Given the description of an element on the screen output the (x, y) to click on. 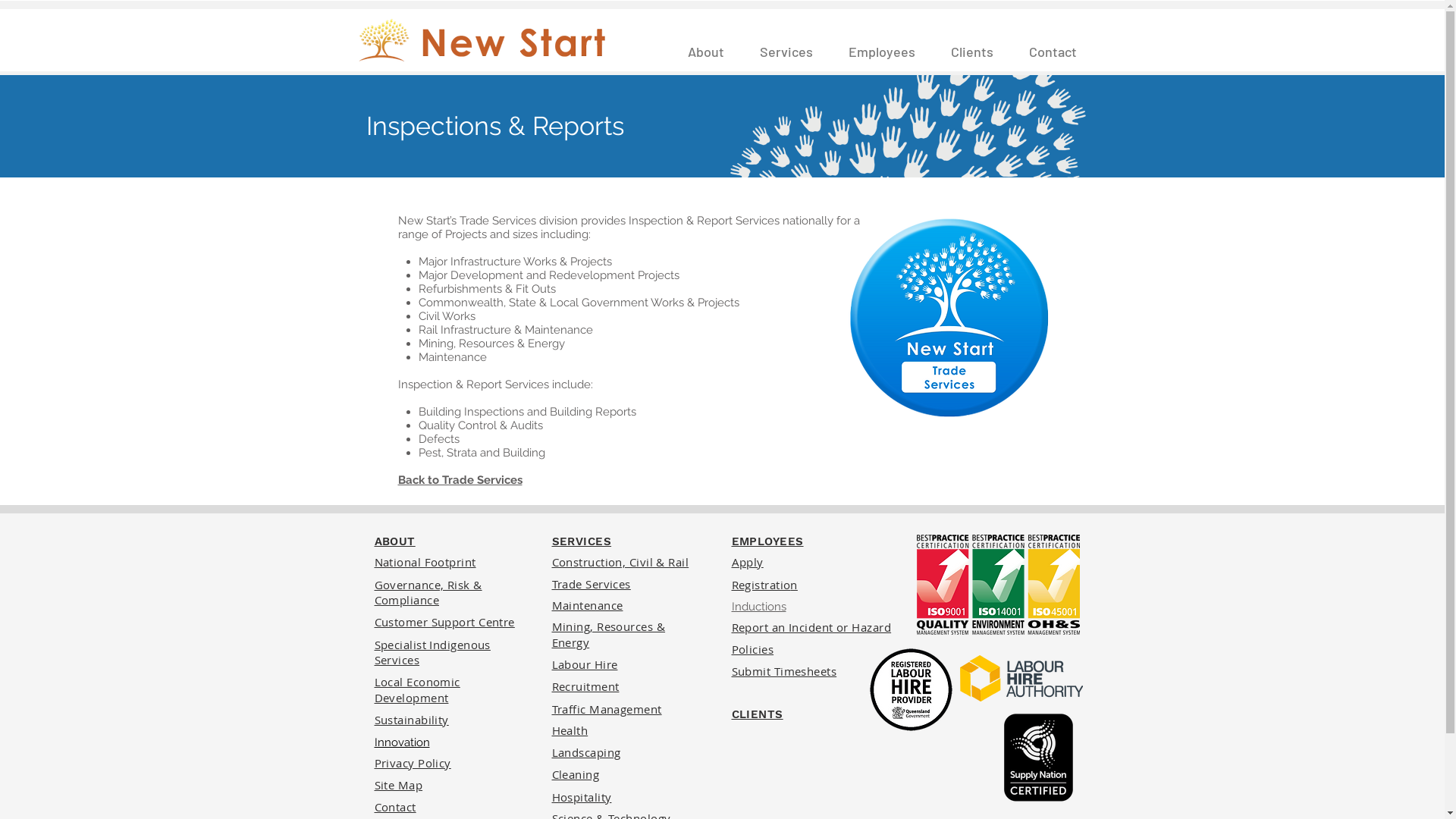
Hospitality Element type: text (581, 797)
Contact Element type: text (395, 807)
Cleaning Element type: text (575, 774)
Labour Hire Element type: text (585, 664)
n Element type: text (793, 584)
Mining, Resources & Energy Element type: text (608, 634)
Landscaping Element type: text (586, 752)
Report an Incident or Hazard Element type: text (811, 627)
Local Economic Development Element type: text (417, 690)
Privacy Policy Element type: text (412, 763)
Submit Timesheets Element type: text (783, 671)
Maintenance Element type: text (587, 605)
Traffic Management Element type: text (607, 709)
Clients Element type: text (971, 51)
Recruitment Element type: text (585, 686)
New Start Logo Element type: hover (481, 42)
Construction, Civil & Rail Element type: text (620, 562)
Registratio Element type: text (760, 584)
CLIENTS Element type: text (756, 714)
National Footprint Element type: text (425, 562)
Trade Services Element type: text (591, 584)
EMPLOYEES Element type: text (767, 541)
Specialist Indigenous Services Element type: text (432, 653)
Policies Element type: text (752, 649)
Apply Element type: text (746, 562)
Employees Element type: text (882, 51)
Innovation Element type: text (401, 742)
Sustainability Element type: text (411, 720)
Health Element type: text (570, 730)
Back to Trade Services Element type: text (459, 479)
Customer Support Centre Element type: text (444, 622)
Contact Element type: text (1052, 51)
ABOUT Element type: text (394, 541)
About Element type: text (706, 51)
Services Element type: text (785, 51)
Site Map Element type: text (398, 785)
Governance, Risk & Compliance Element type: text (428, 593)
SERVICES Element type: text (581, 541)
Inductions Element type: text (758, 606)
